Given the description of an element on the screen output the (x, y) to click on. 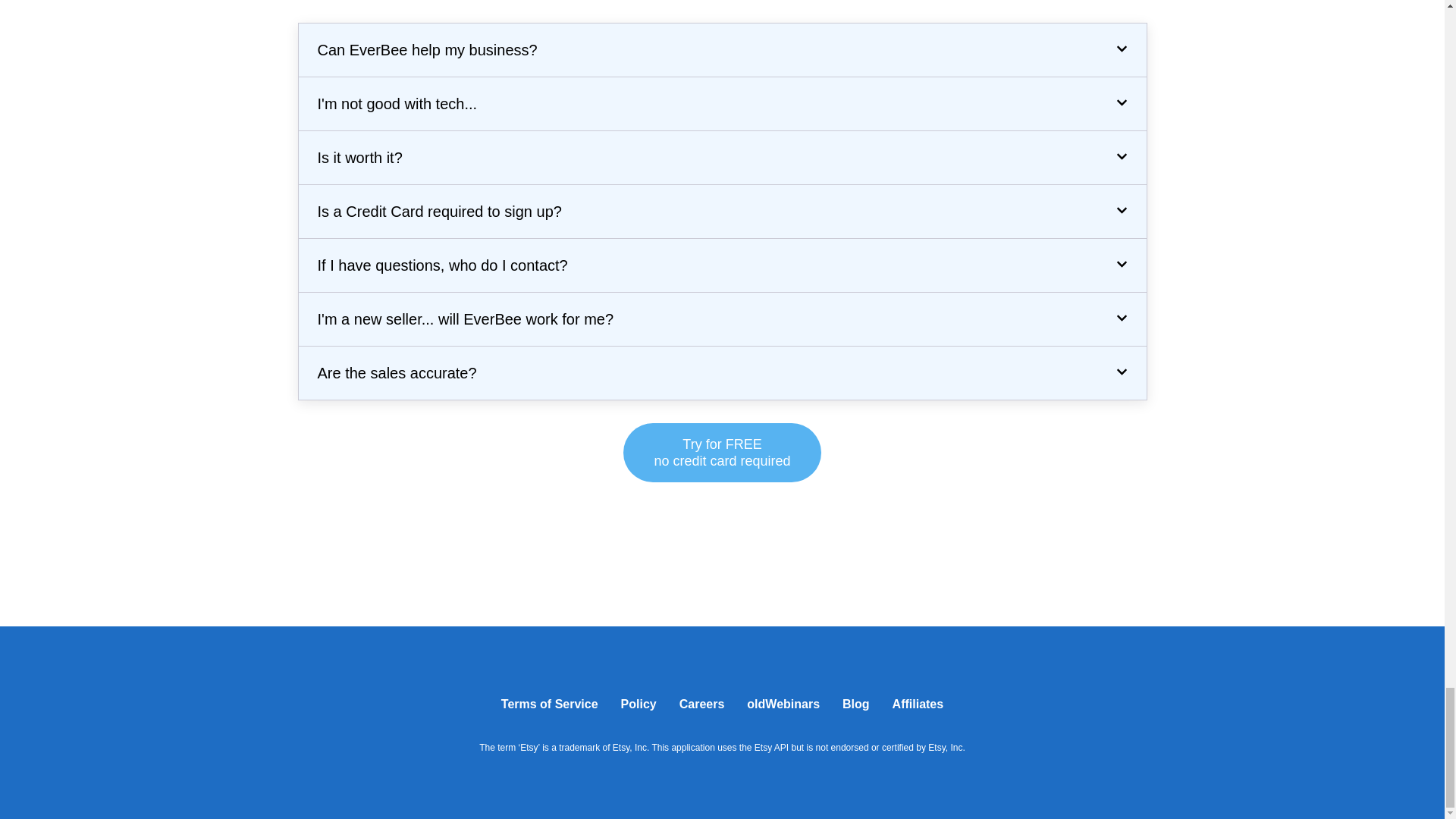
Affiliates (917, 704)
Terms of Service (549, 704)
Can EverBee help my business? (427, 49)
If I have questions, who do I contact? (442, 265)
Is a Credit Card required to sign up? (438, 211)
Policy (639, 704)
Blog (855, 704)
oldWebinars (783, 704)
Are the sales accurate? (722, 452)
I'm not good with tech... (396, 372)
Is it worth it? (397, 103)
I'm a new seller... will EverBee work for me? (359, 157)
Careers (464, 319)
